Given the description of an element on the screen output the (x, y) to click on. 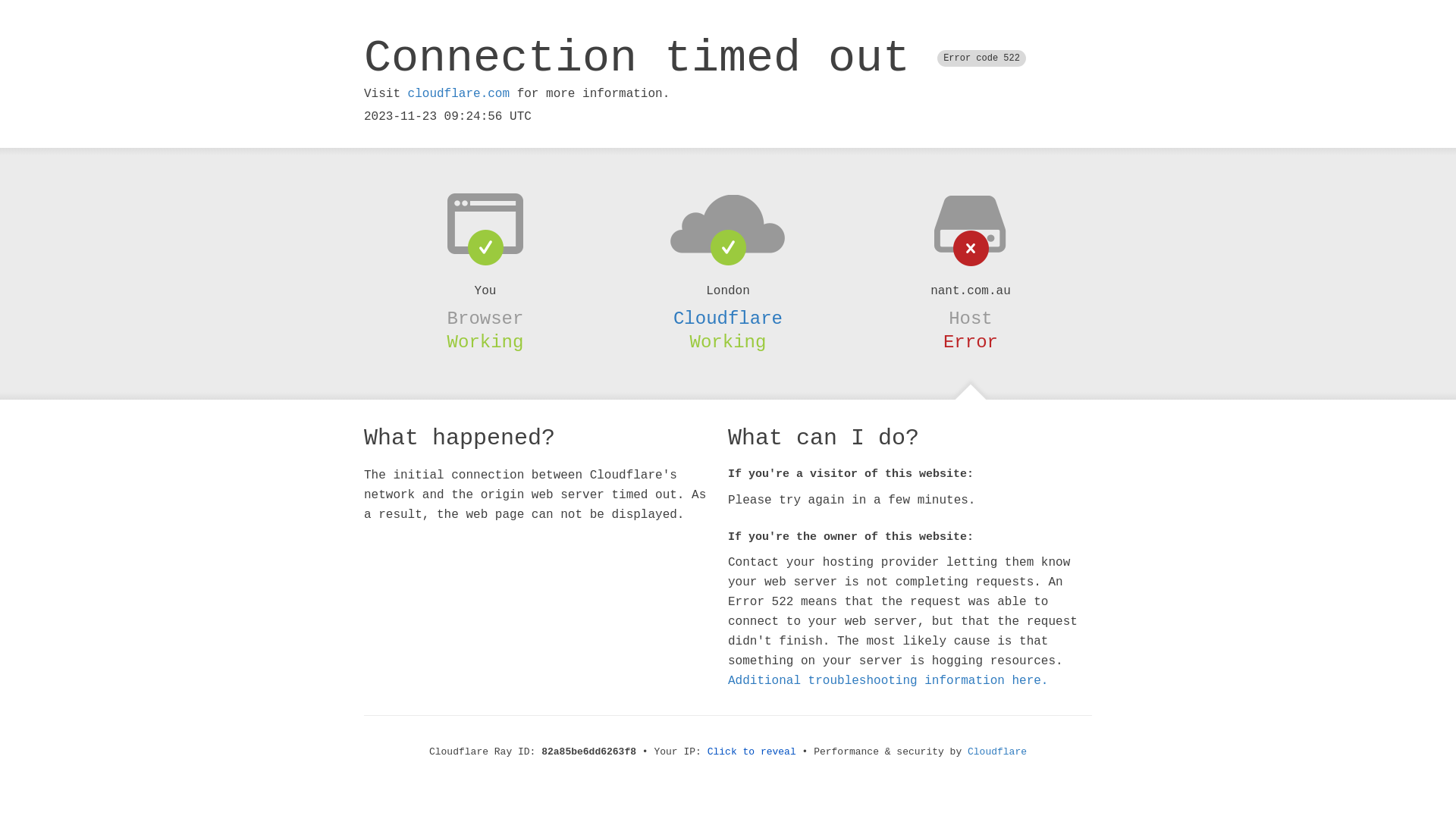
cloudflare.com Element type: text (458, 93)
Cloudflare Element type: text (727, 318)
Additional troubleshooting information here. Element type: text (888, 680)
Cloudflare Element type: text (996, 751)
Click to reveal Element type: text (751, 751)
